Given the description of an element on the screen output the (x, y) to click on. 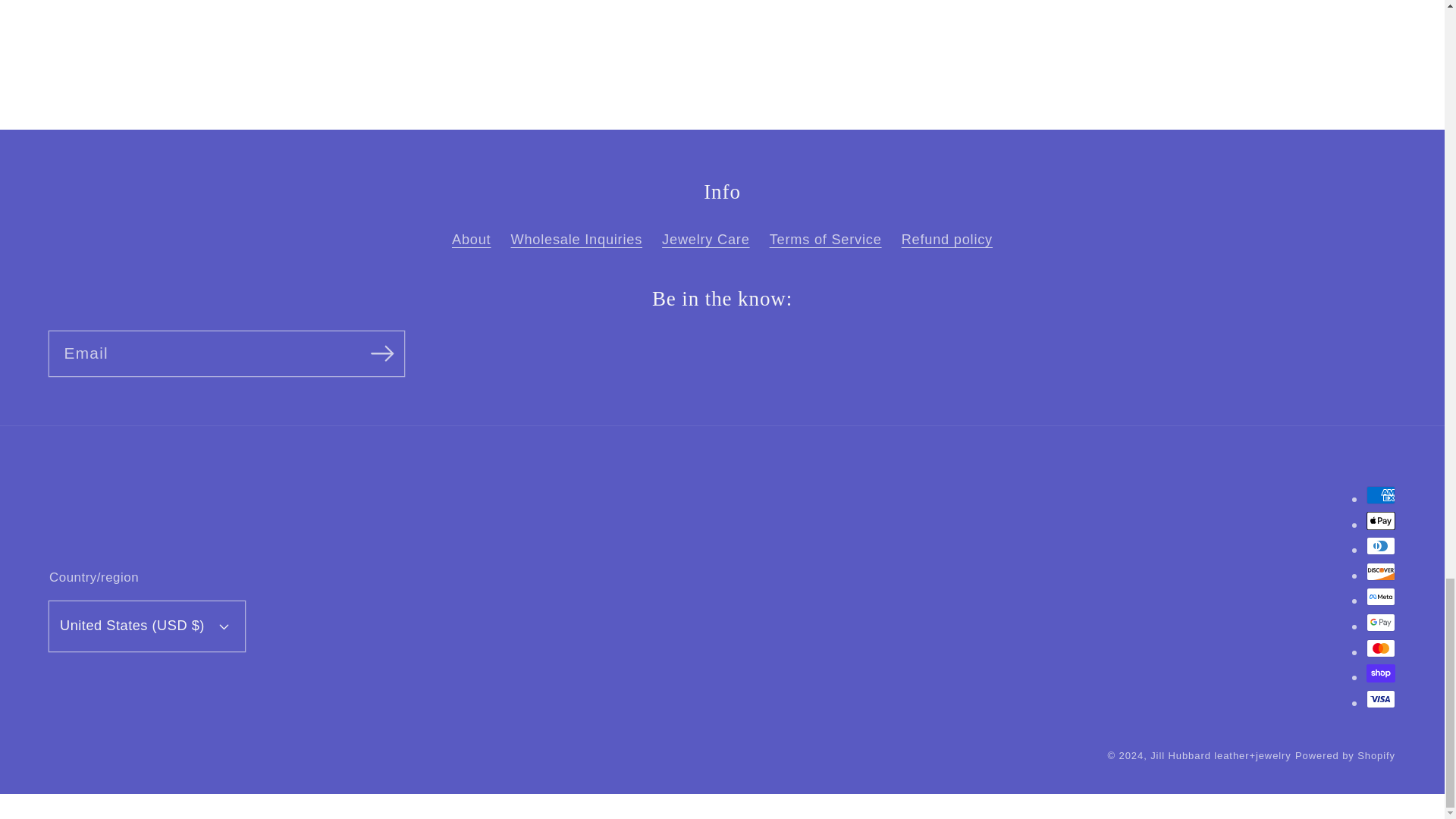
Mastercard (1380, 648)
American Express (1380, 495)
Diners Club (1380, 546)
Apple Pay (1380, 520)
Discover (1380, 571)
Meta Pay (1380, 597)
Google Pay (1380, 622)
